Given the description of an element on the screen output the (x, y) to click on. 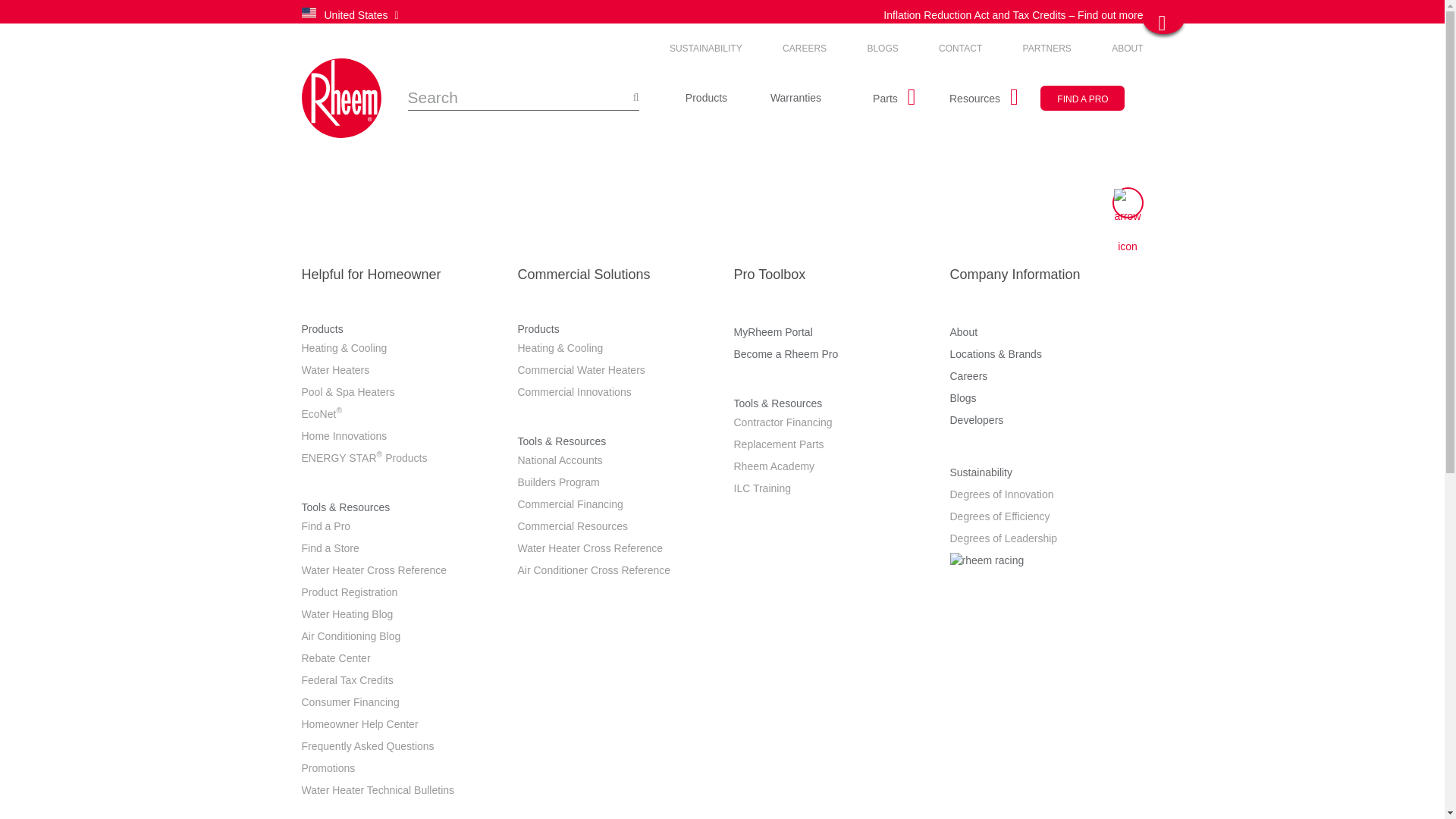
United States (434, 15)
